Given the description of an element on the screen output the (x, y) to click on. 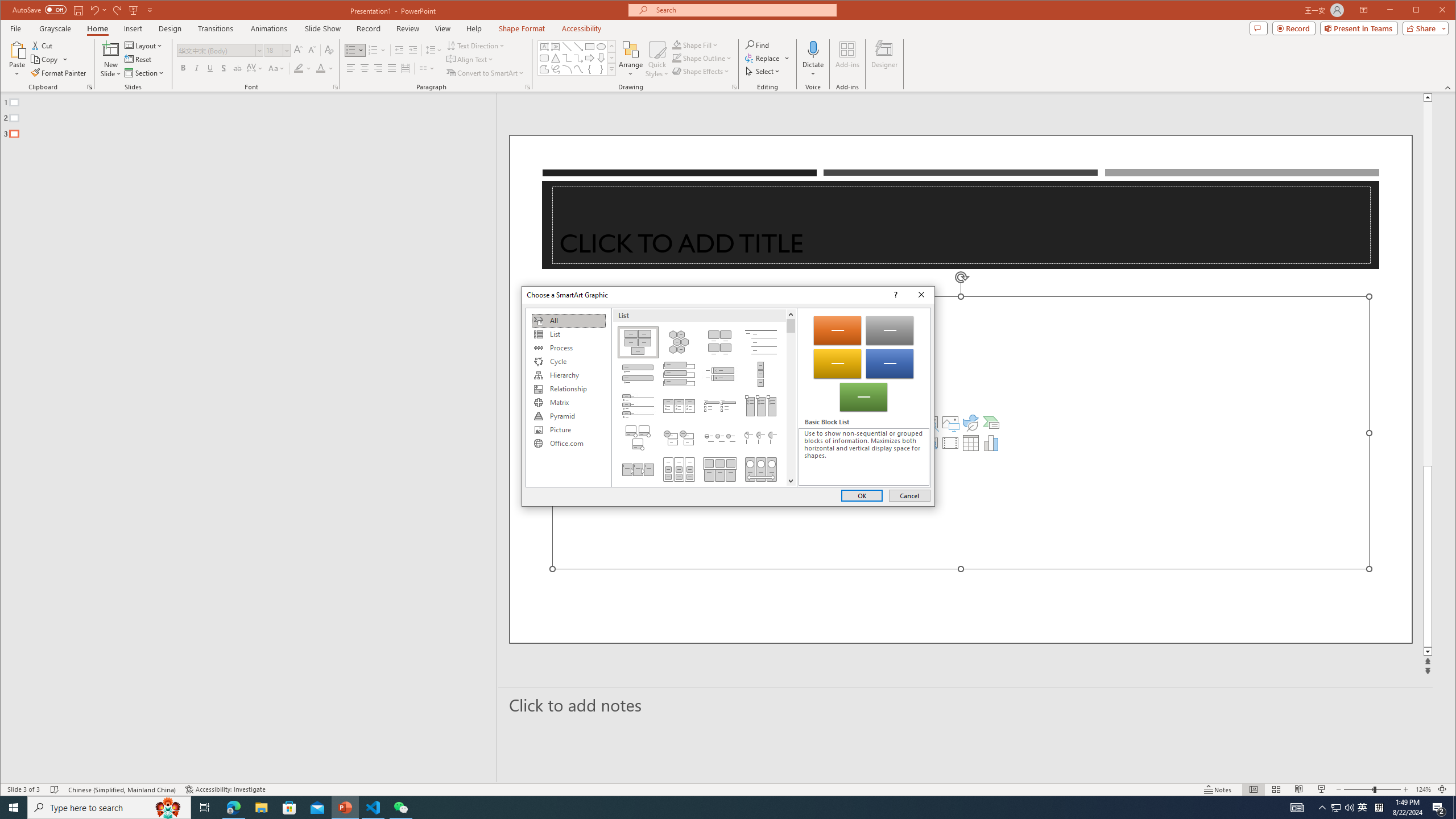
Freeform: Scribble (556, 69)
Outline (252, 115)
Page up (1427, 283)
Line (567, 46)
Copy (45, 59)
Cycle (568, 361)
Copy (49, 59)
OK (861, 495)
Italic (196, 68)
Continuous Picture List (761, 469)
Relationship (568, 388)
